Given the description of an element on the screen output the (x, y) to click on. 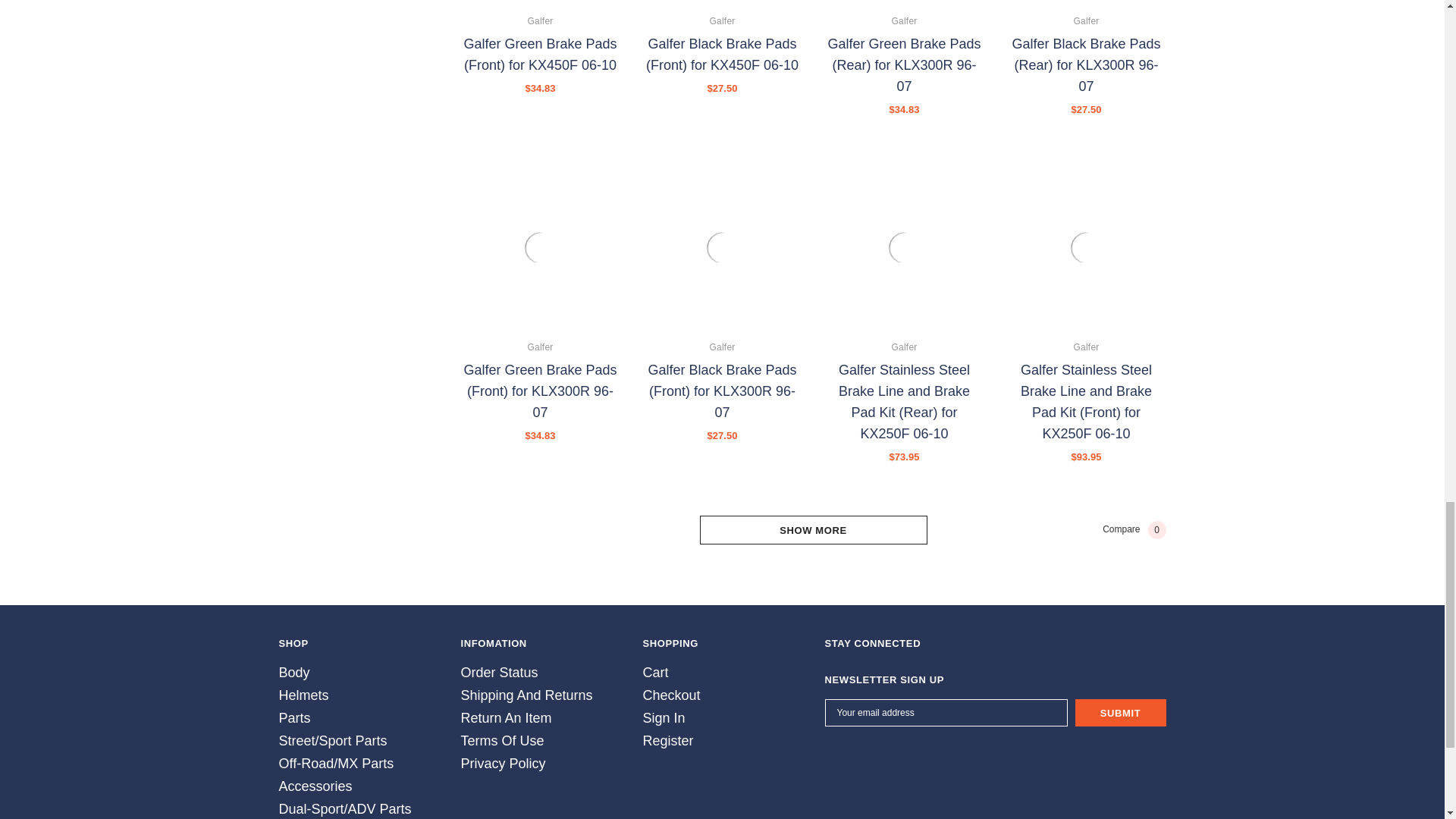
Submit (1120, 712)
